Given the description of an element on the screen output the (x, y) to click on. 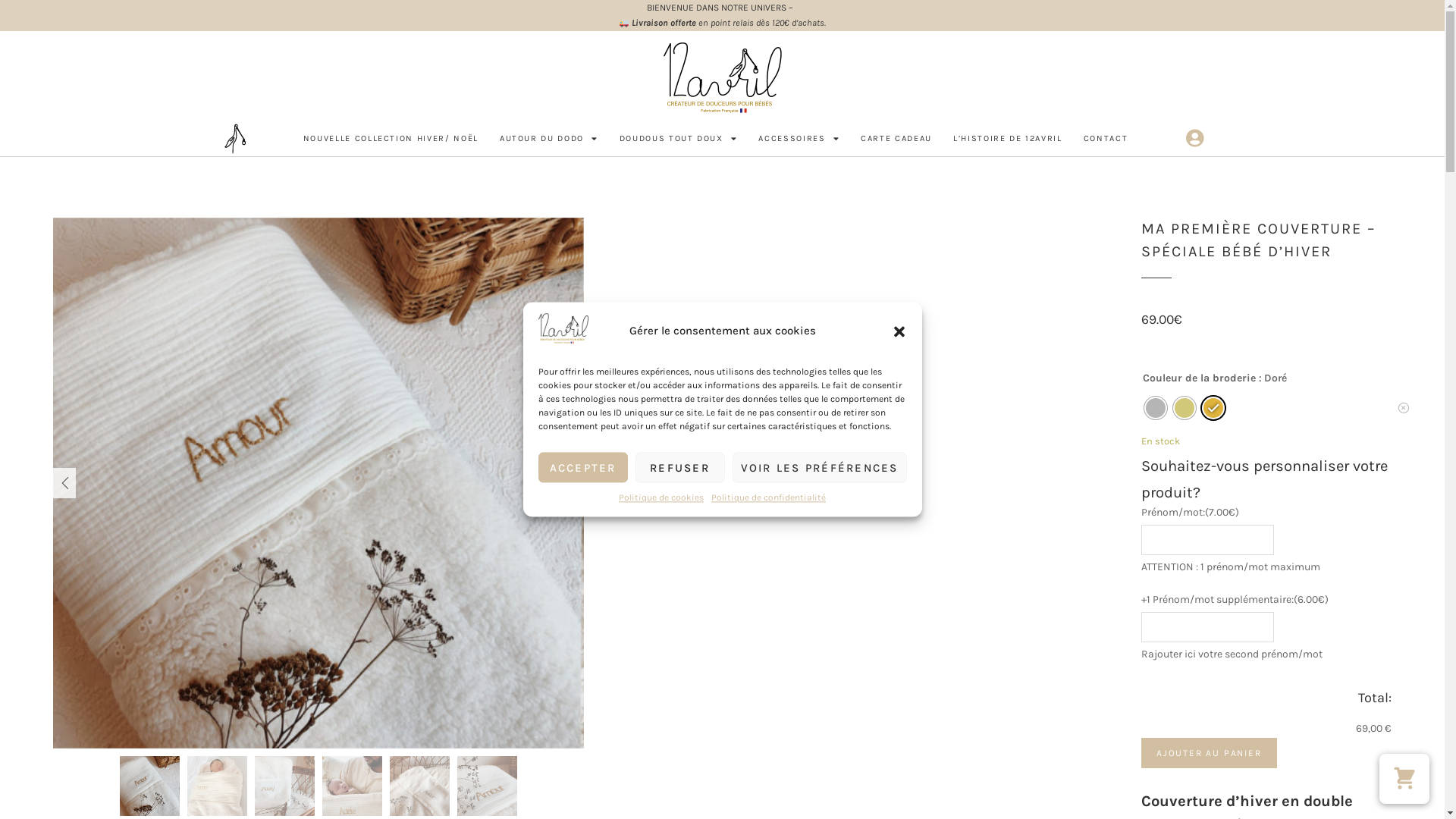
NEXT Element type: text (572, 482)
CONTACT Element type: text (1106, 138)
couverture-personnalisable-hiver2-12avril Element type: hover (419, 785)
CARTE CADEAU Element type: text (896, 138)
ACCESSOIRES Element type: text (798, 138)
REFUSER Element type: text (679, 466)
couverture-personnalisable-hiver-12avril Element type: hover (149, 785)
PREVIOUS Element type: text (64, 482)
DOUDOUS TOUT DOUX Element type: text (678, 138)
Effacer Element type: text (1403, 407)
couverture-personnalisable-hiver-12avril Element type: hover (318, 482)
Politique de cookies Element type: text (660, 497)
Argent Element type: hover (1155, 407)
AUTOUR DU DODO Element type: text (548, 138)
AJOUTER AU PANIER Element type: text (1209, 752)
couverture-personnalisable-hiver3-12avril Element type: hover (284, 785)
couverture-personnalisable-hiver4-12avril Element type: hover (487, 785)
ACCEPTER Element type: text (582, 466)
couverture-hiver-12avril Element type: hover (352, 785)
